Given the description of an element on the screen output the (x, y) to click on. 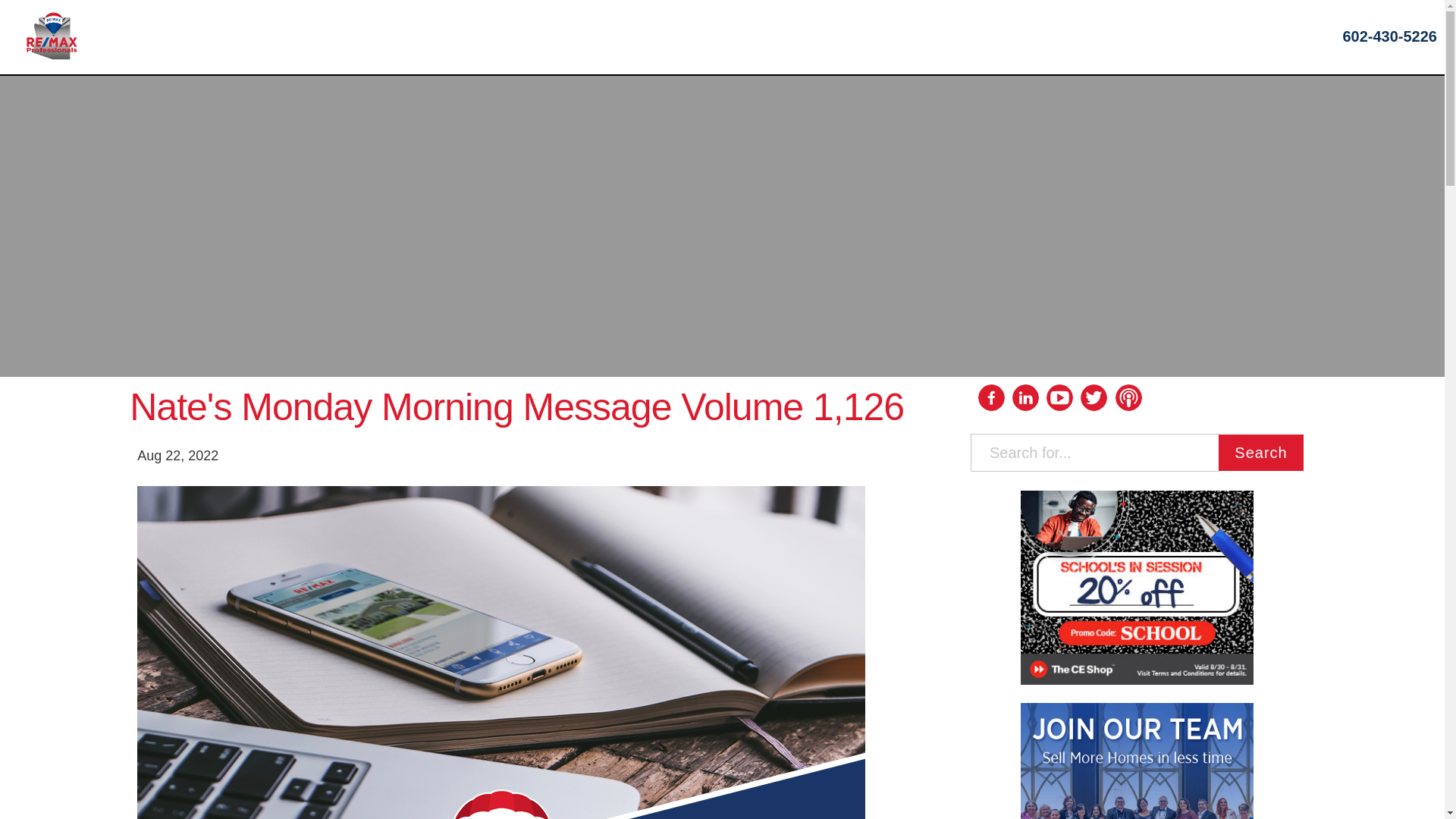
YouTube (1060, 416)
Podcast (1128, 397)
YouTube (1059, 397)
Podcast (1129, 412)
Twitter (1094, 414)
Linkedin (1026, 418)
Facebook (991, 397)
Linkedin (1025, 397)
Nate's Monday Morning Message Volume 1,126 (533, 414)
Facebook (992, 418)
